Given the description of an element on the screen output the (x, y) to click on. 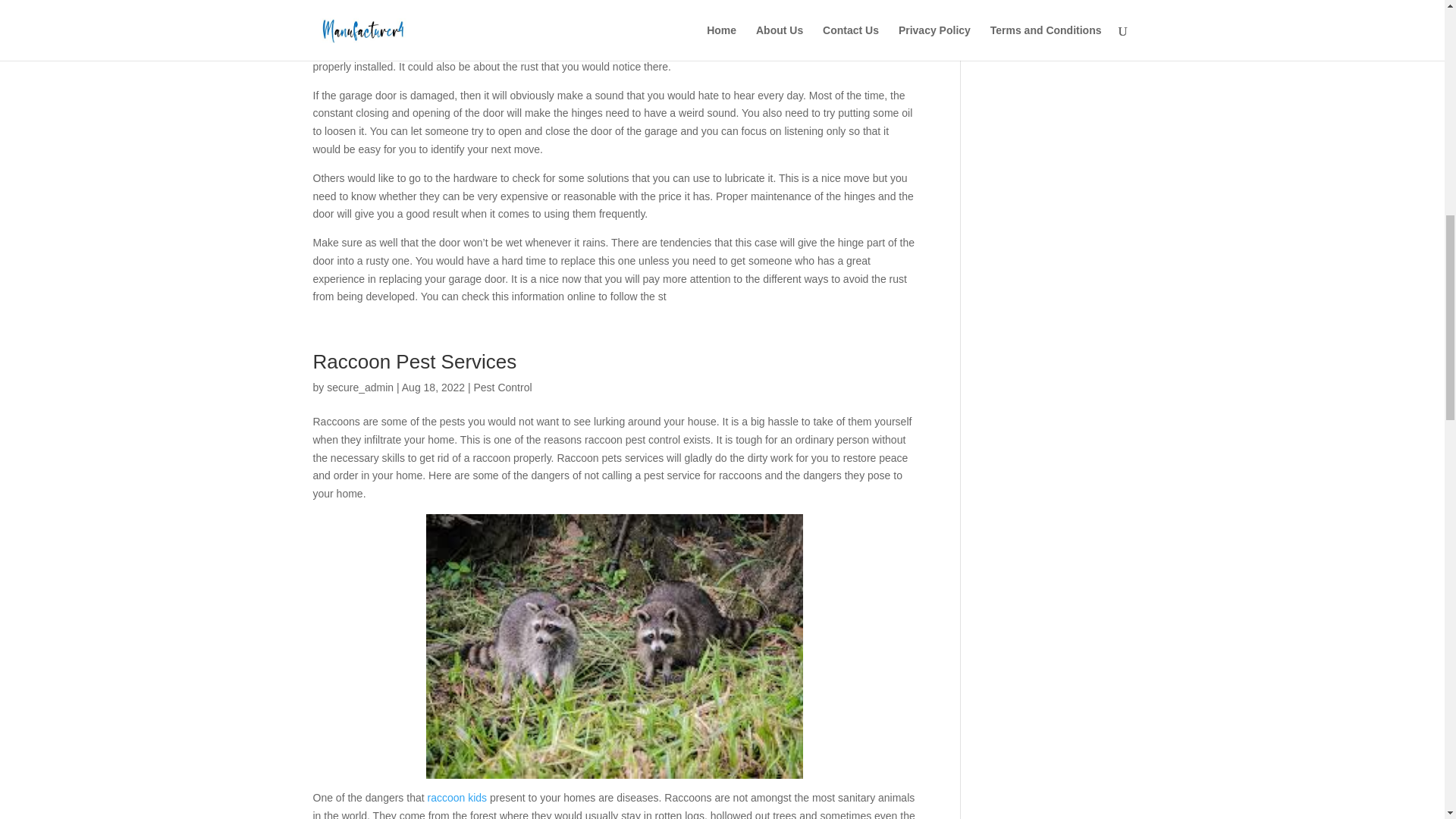
raccoon kids (457, 797)
Raccoon Pest Services   (420, 361)
Pest Control (502, 387)
